Given the description of an element on the screen output the (x, y) to click on. 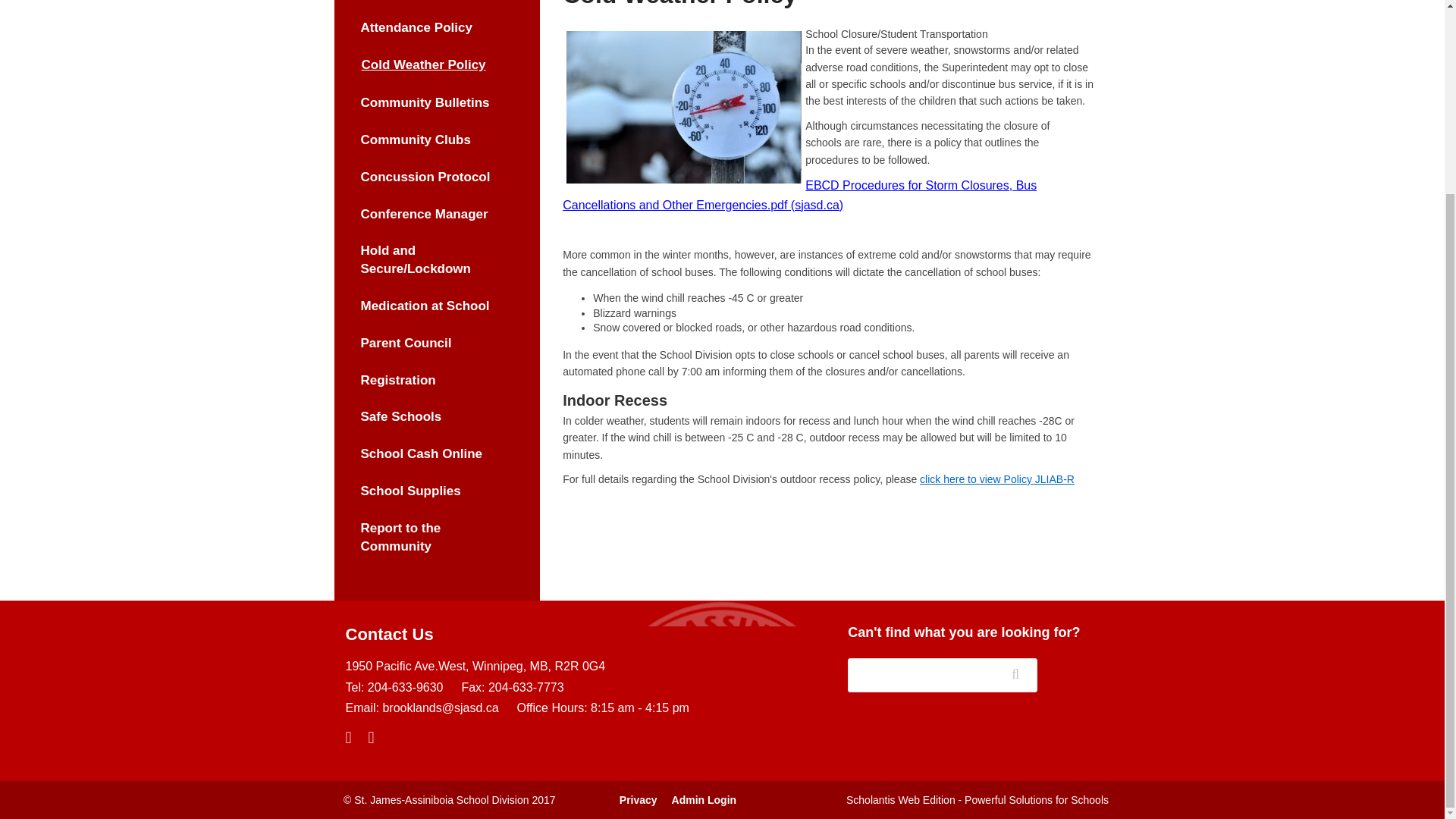
Search... (941, 675)
Search (1021, 677)
